Given the description of an element on the screen output the (x, y) to click on. 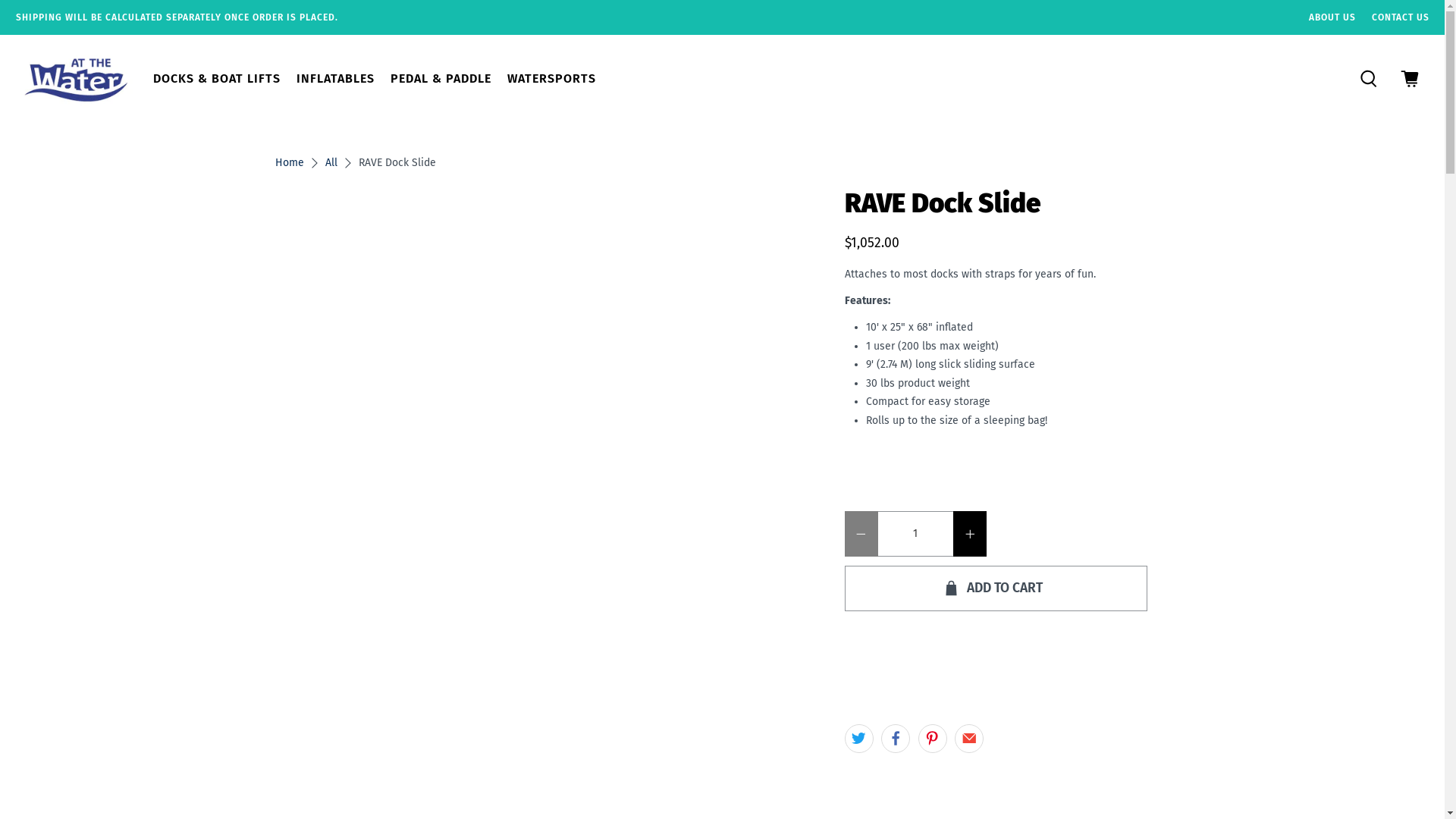
Home Element type: text (288, 162)
WATERSPORTS Element type: text (550, 78)
CONTACT US Element type: text (1400, 17)
ADD TO CART Element type: text (995, 588)
DOCKS & BOAT LIFTS Element type: text (216, 78)
Email this to a friend Element type: hover (968, 738)
Share this on Twitter Element type: hover (858, 738)
At The Water Element type: hover (75, 78)
INFLATABLES Element type: text (335, 78)
ABOUT US Element type: text (1331, 17)
PEDAL & PADDLE Element type: text (440, 78)
All Element type: text (330, 162)
Share this on Pinterest Element type: hover (931, 738)
Share this on Facebook Element type: hover (895, 738)
